Given the description of an element on the screen output the (x, y) to click on. 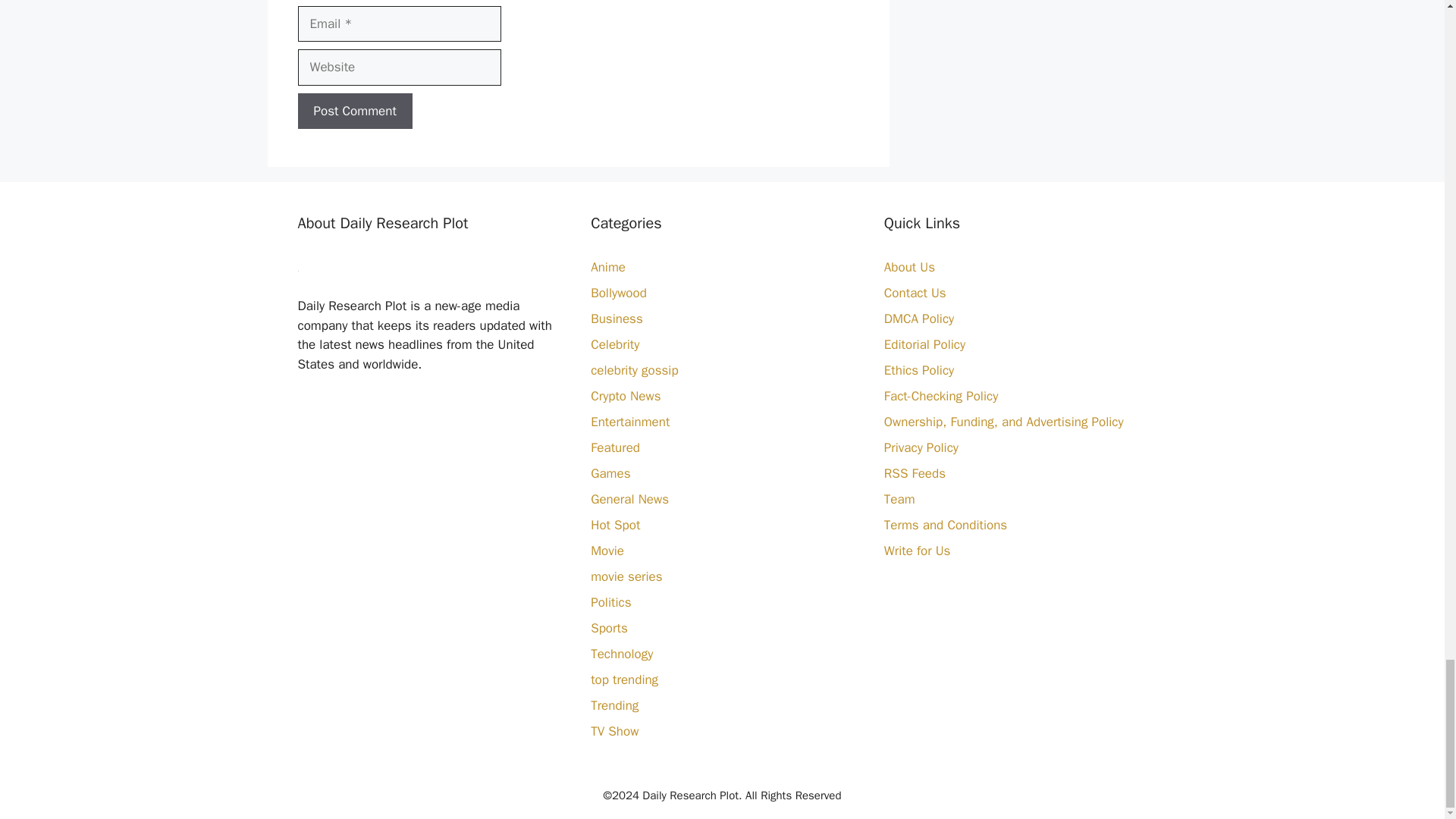
Post Comment (354, 111)
